Given the description of an element on the screen output the (x, y) to click on. 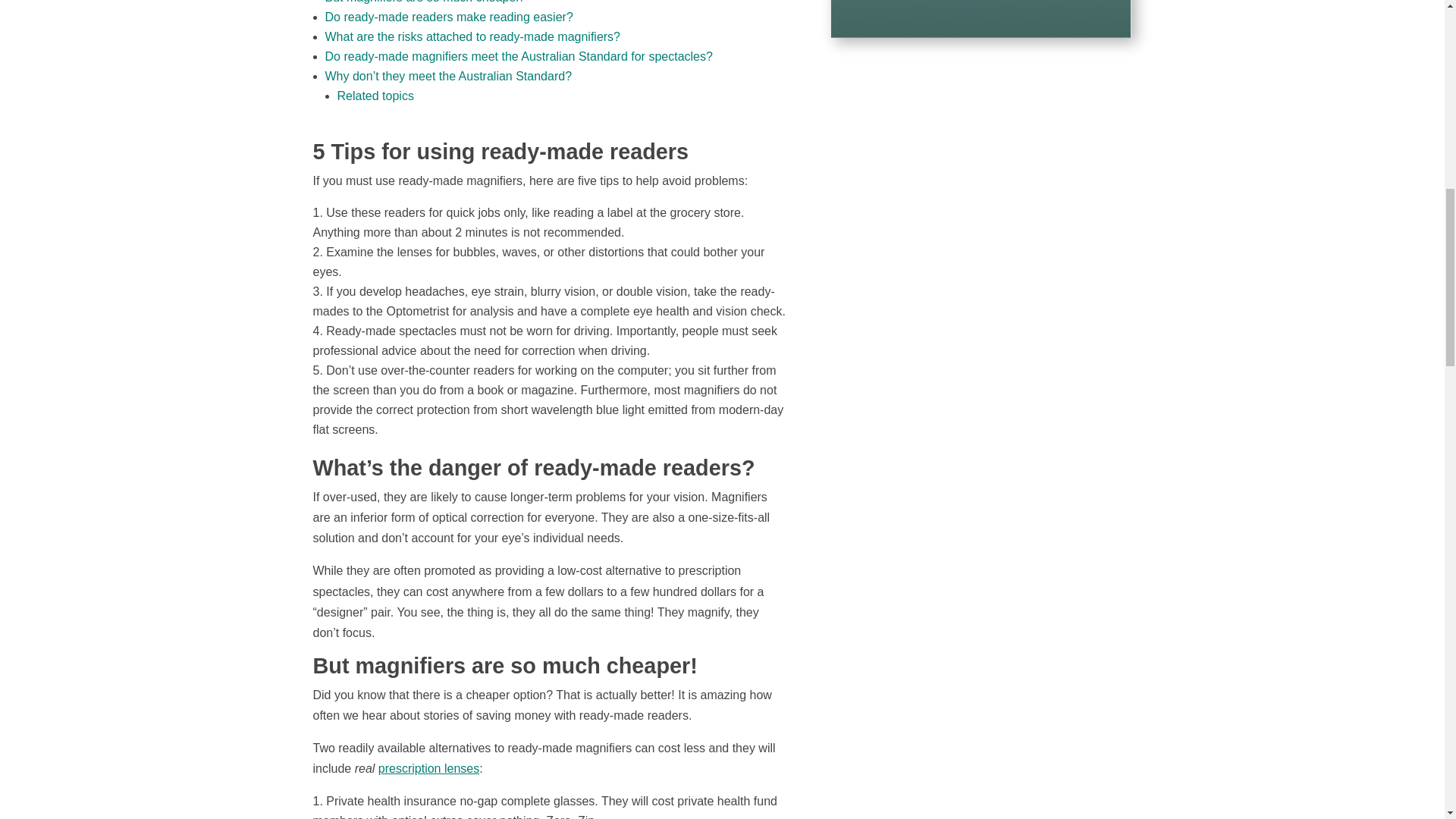
What are the risks attached to ready-made magnifiers? (472, 36)
But magnifiers are so much cheaper! (423, 2)
Do ready-made readers make reading easier? (448, 16)
Related topics (374, 95)
prescription lenses (428, 768)
